Given the description of an element on the screen output the (x, y) to click on. 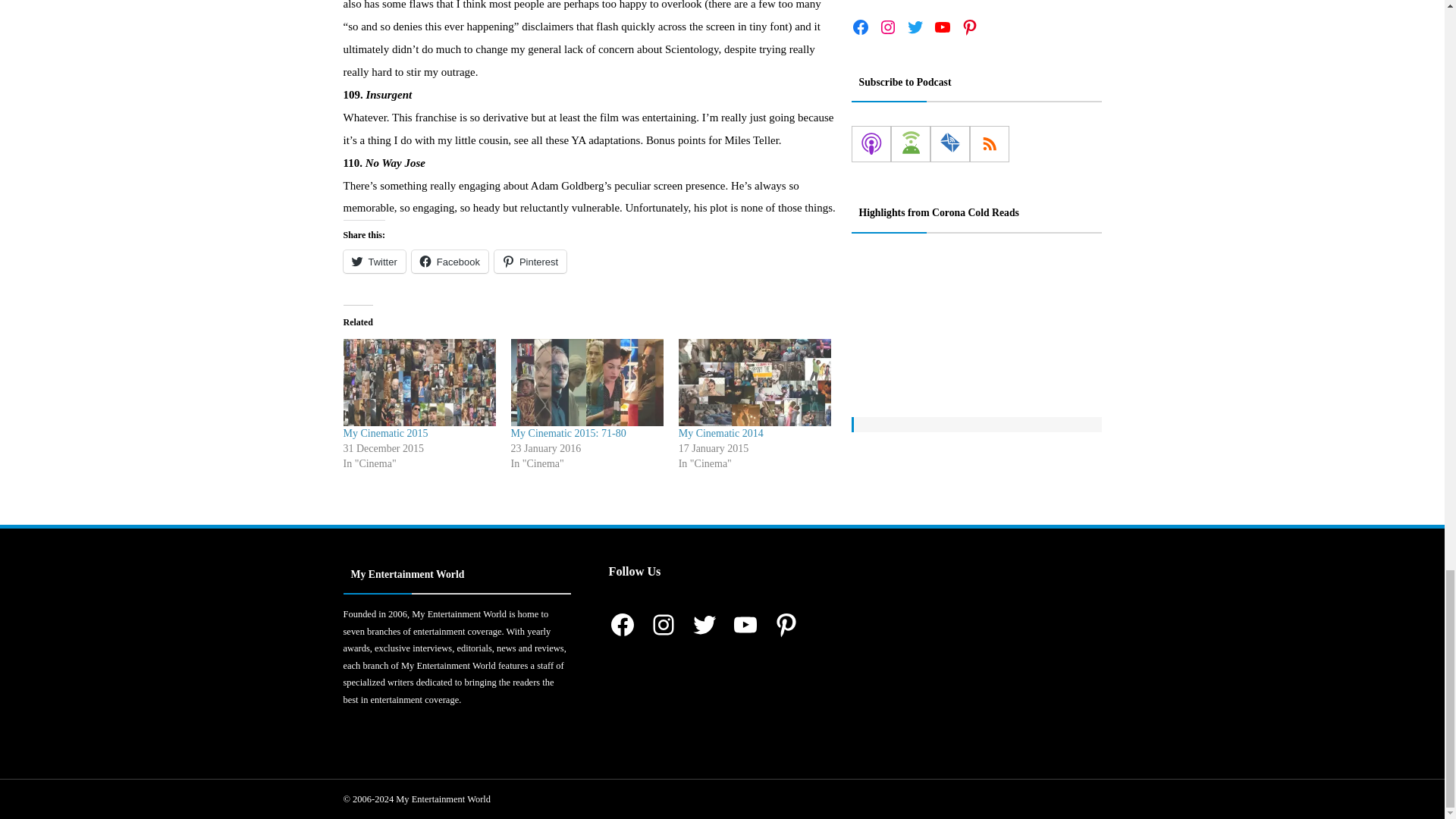
Click to share on Pinterest (530, 261)
Facebook (449, 261)
Click to share on Twitter (373, 261)
My Cinematic 2015: 71-80 (568, 432)
My Cinematic 2014 (754, 382)
My Cinematic 2015: 71-80 (568, 432)
My Cinematic 2015 (385, 432)
My Cinematic 2015 (418, 382)
My Cinematic 2015: 71-80 (587, 382)
Click to share on Facebook (449, 261)
Twitter (373, 261)
Pinterest (530, 261)
My Cinematic 2015 (385, 432)
My Cinematic 2014 (720, 432)
